Given the description of an element on the screen output the (x, y) to click on. 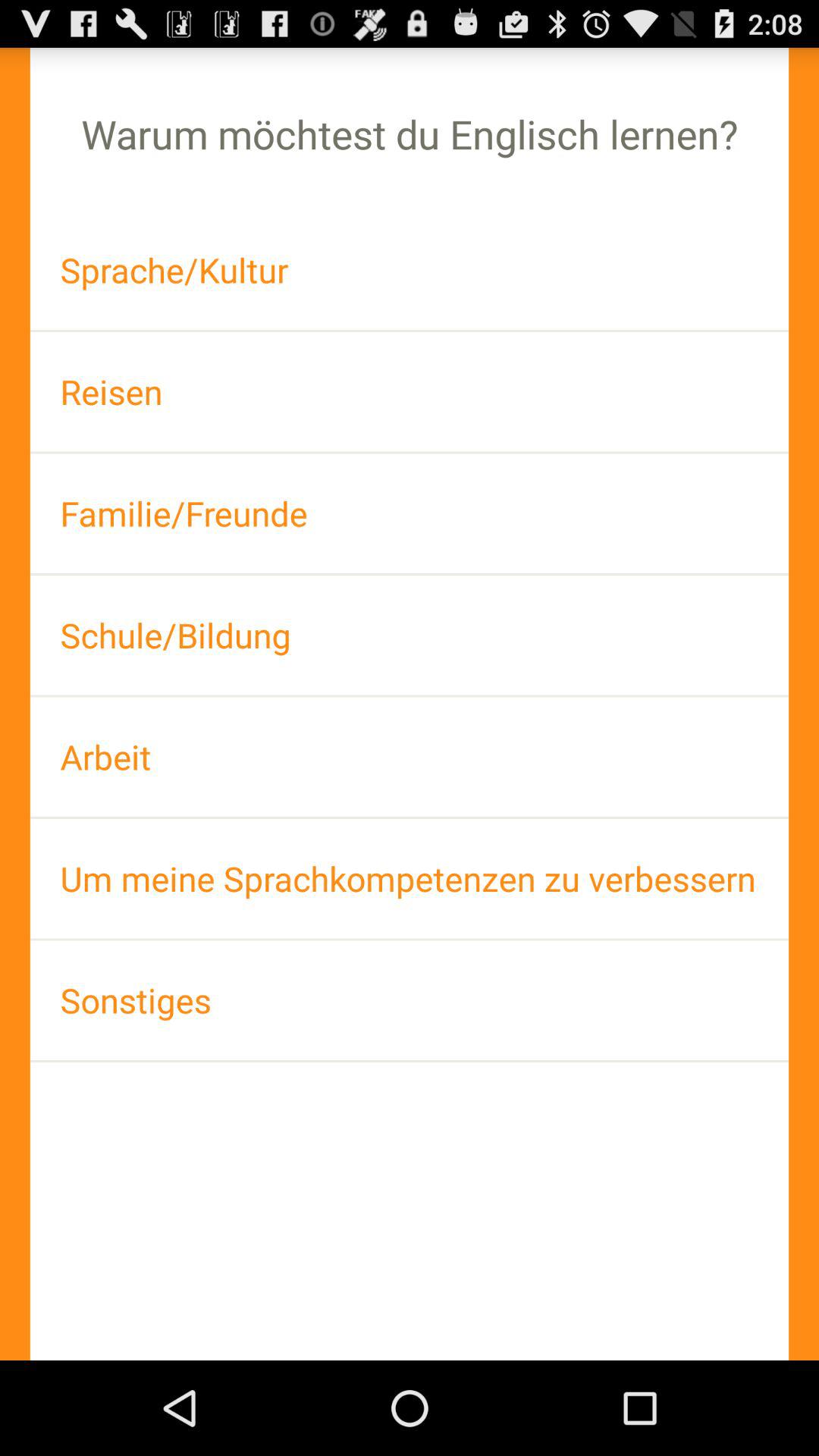
turn on the app below the sprache/kultur item (409, 391)
